Given the description of an element on the screen output the (x, y) to click on. 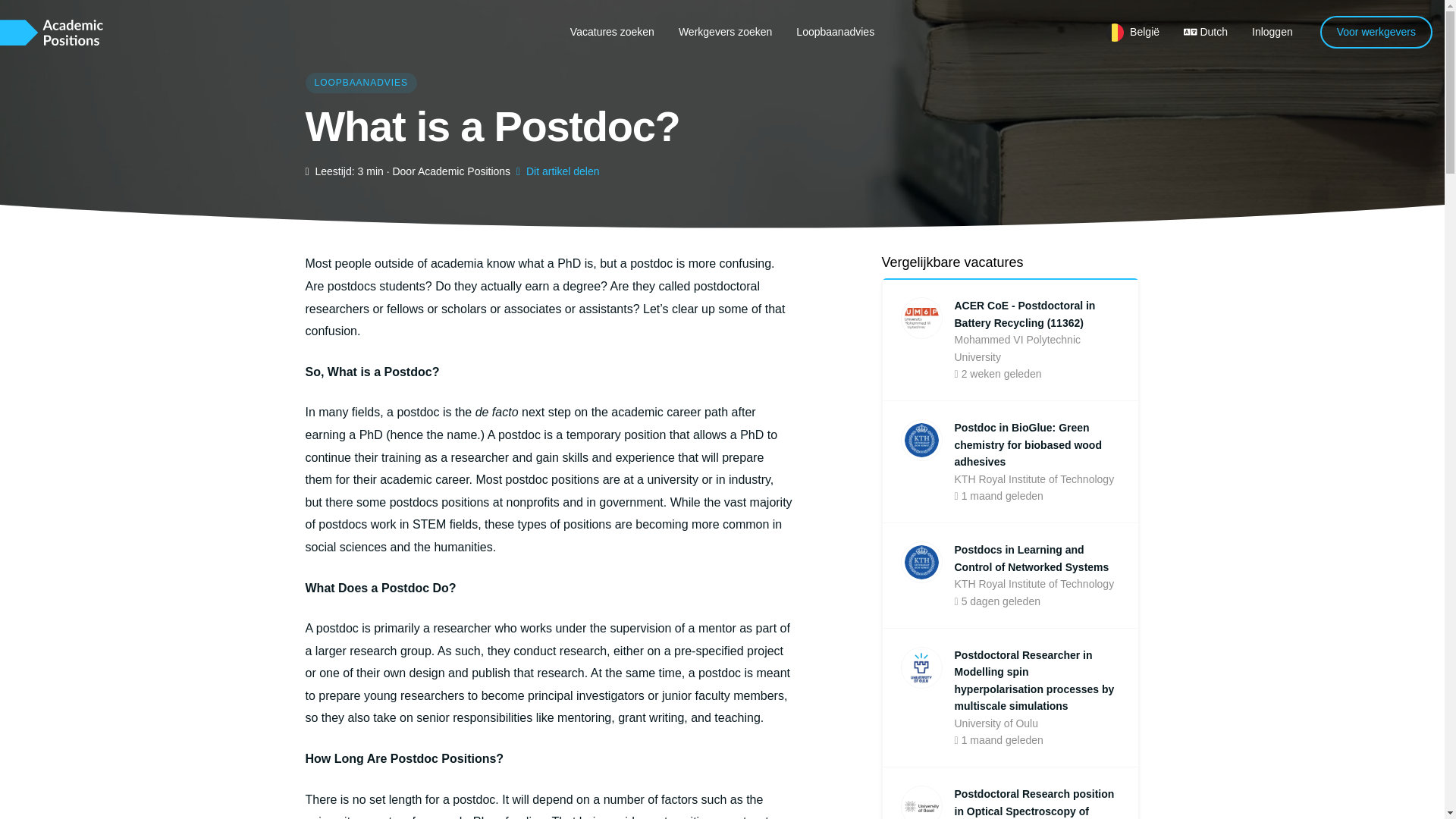
Vacatures zoeken (611, 31)
Loopbaanadvies (835, 31)
Werkgevers zoeken (725, 31)
